Given the description of an element on the screen output the (x, y) to click on. 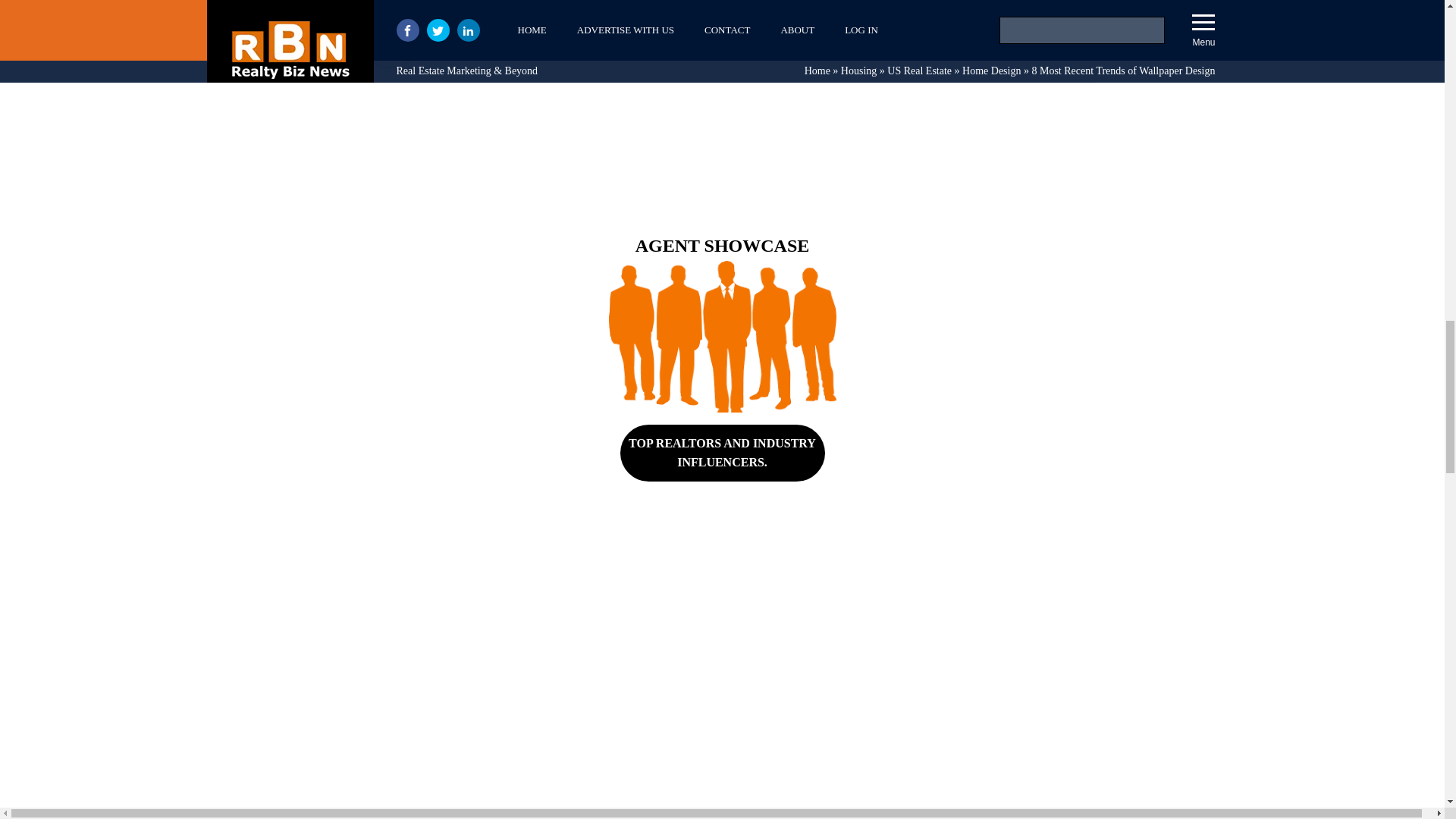
Jamie Richardson (389, 62)
